Given the description of an element on the screen output the (x, y) to click on. 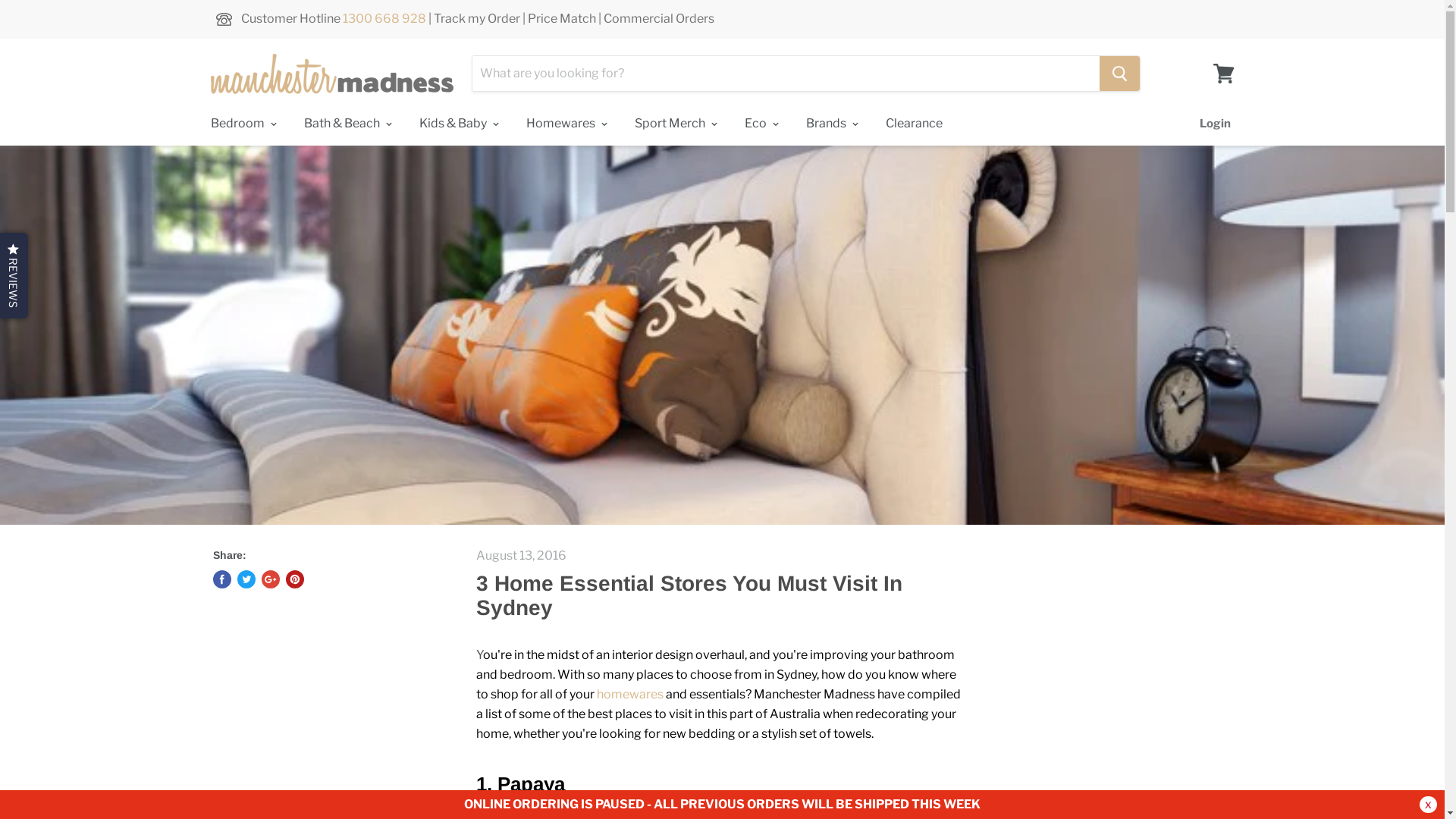
Tweet on Twitter Element type: text (245, 579)
x Element type: text (1428, 804)
Commercial Orders Element type: text (658, 18)
Share on Facebook Element type: text (221, 579)
Share on Google+ Element type: text (269, 579)
Clearance Element type: text (913, 123)
Price Match Element type: text (561, 18)
Bedroom Element type: text (240, 123)
Homewares Element type: text (564, 123)
Login Element type: text (1214, 123)
homewares Element type: text (629, 694)
Sport Merch Element type: text (673, 123)
Pin on Pinterest Element type: text (294, 579)
Bath & Beach Element type: text (345, 123)
View cart Element type: text (1223, 73)
Eco Element type: text (758, 123)
1300 668 928 Element type: text (384, 18)
Kids & Baby Element type: text (456, 123)
Brands Element type: text (830, 123)
Track my Order Element type: text (476, 18)
